Given the description of an element on the screen output the (x, y) to click on. 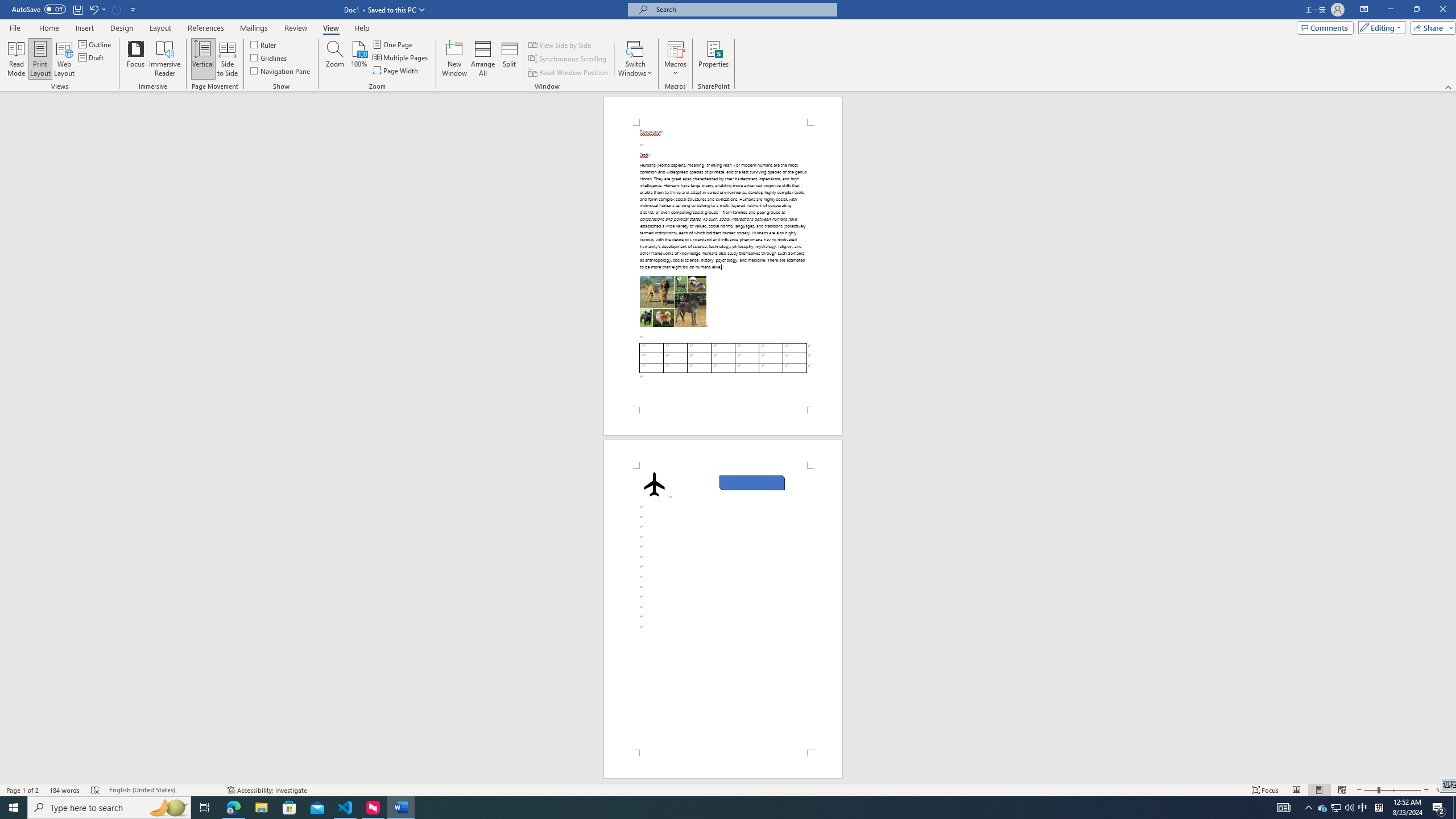
Page 1 content (722, 266)
Microsoft search (742, 9)
Macros (675, 58)
Airplane with solid fill (653, 484)
Draft (91, 56)
Side to Side (226, 58)
Arrange All (483, 58)
One Page (393, 44)
